Given the description of an element on the screen output the (x, y) to click on. 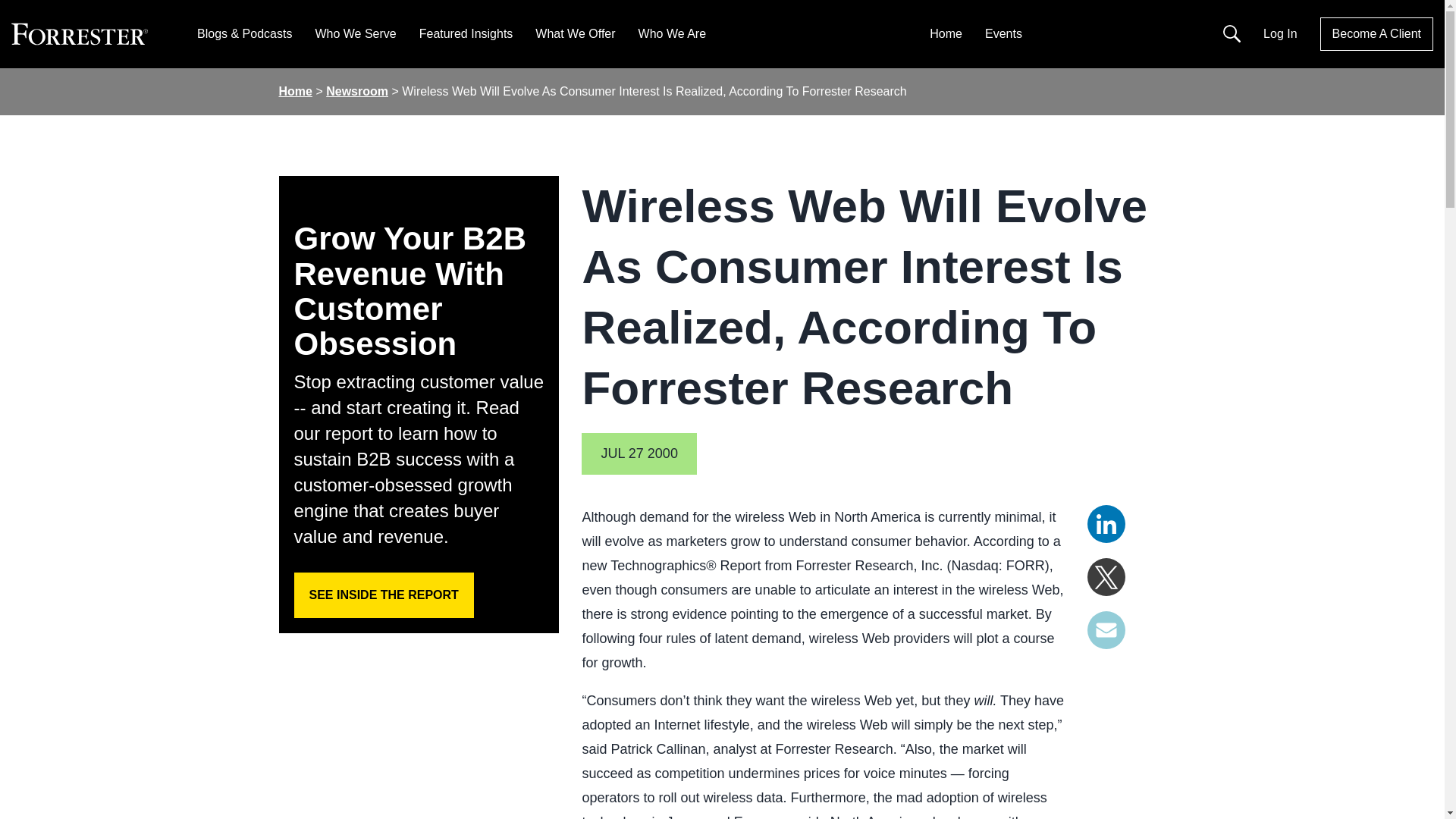
Who We Serve (355, 33)
Featured Insights (466, 33)
What We Offer (574, 33)
